Given the description of an element on the screen output the (x, y) to click on. 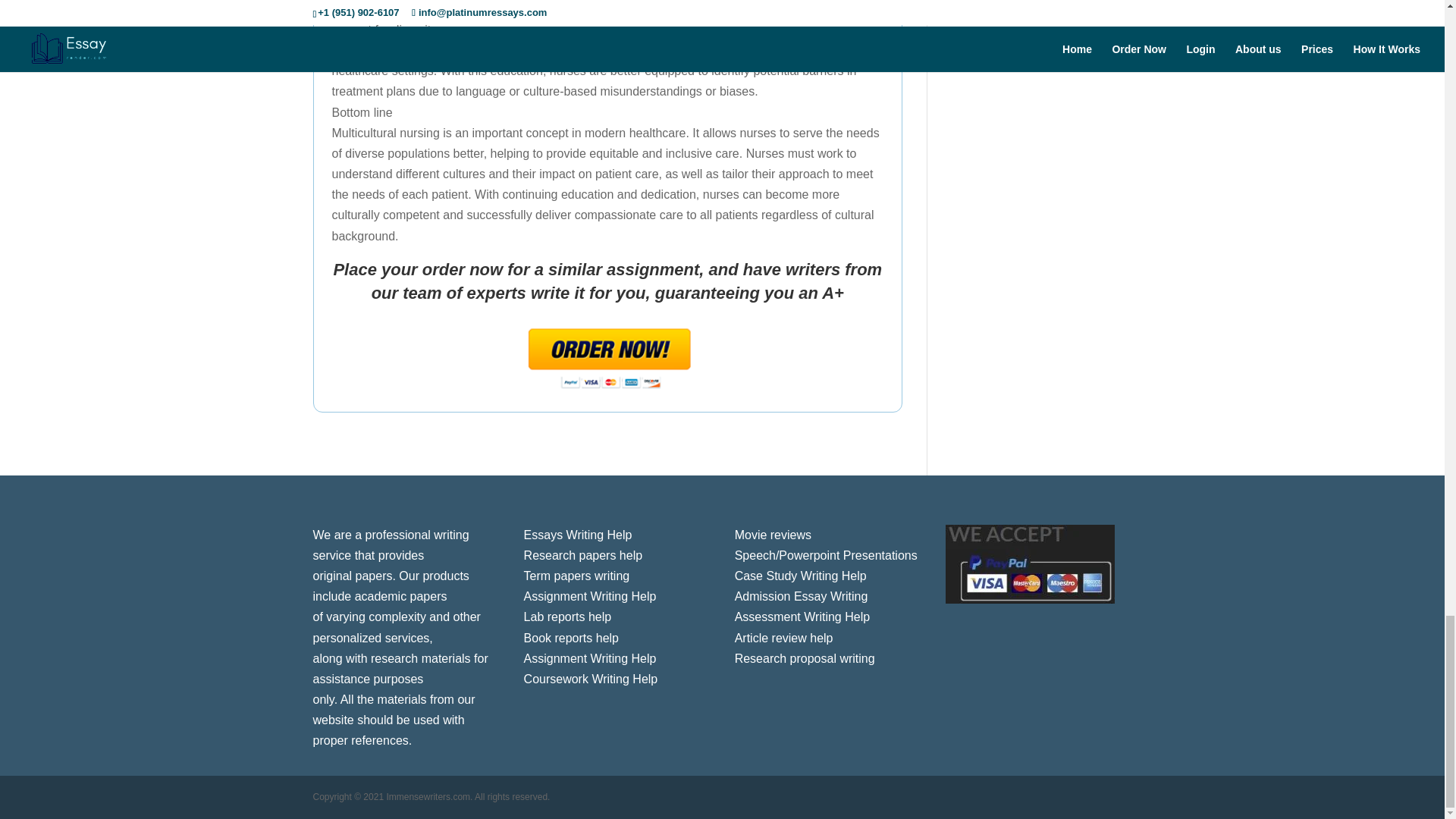
Lab reports help (567, 616)
Research papers help (583, 554)
along with research materials for assistance purposes (400, 668)
Case Study Writing Help (800, 575)
of varying complexity and other personalized services, (396, 626)
Term papers writing (577, 575)
Admission Essay Writing (801, 595)
Essays Writing Help (577, 534)
We are a professional writing service that provides (390, 544)
Coursework Writing Help (591, 678)
